Given the description of an element on the screen output the (x, y) to click on. 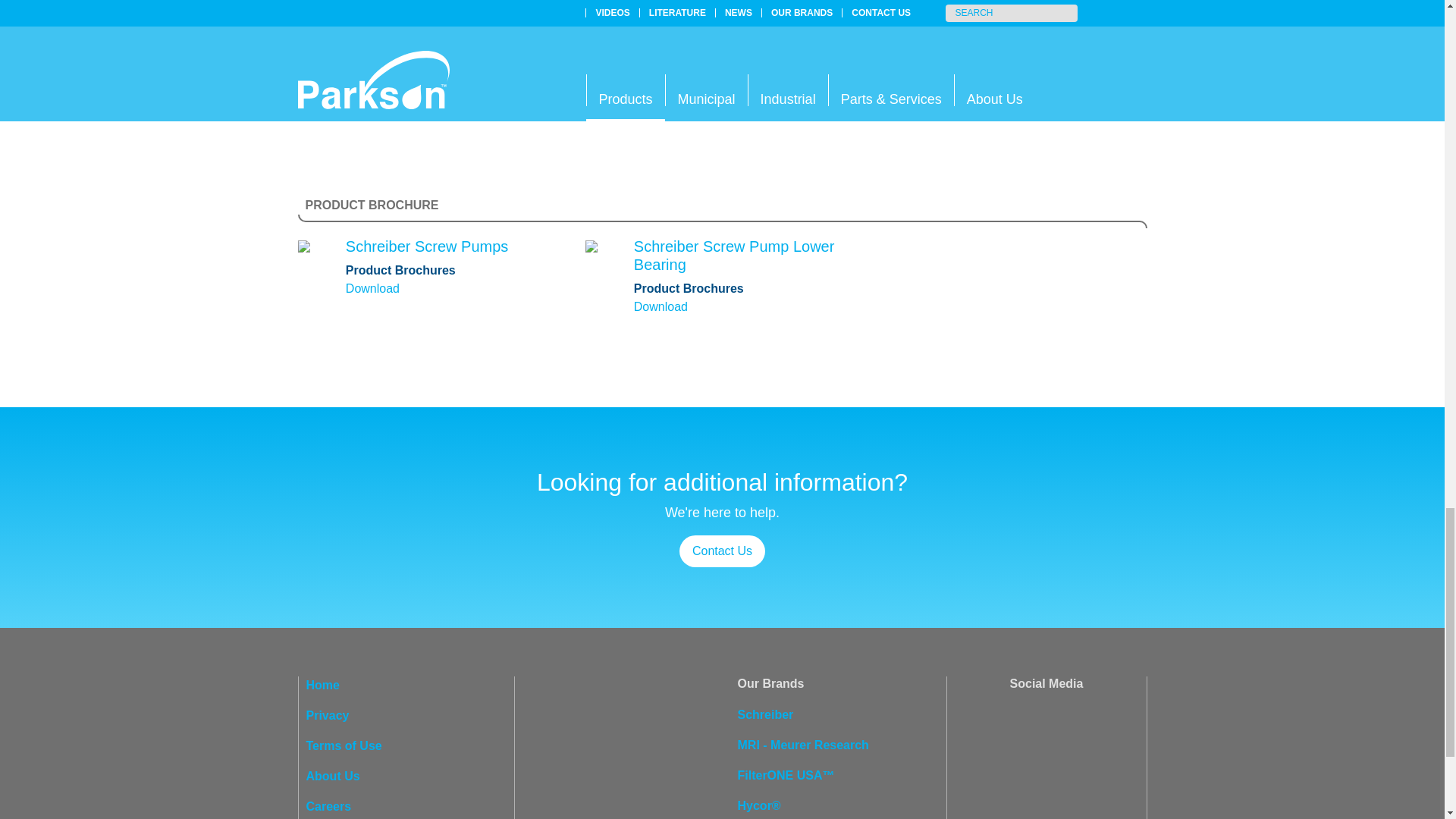
Download Schreiber Screw Pump Lower Bearing (660, 306)
Download Schreiber Screw Pumps (372, 287)
Download Schreiber Screw Pump Lower Bearing (733, 255)
Download Schreiber Screw Pumps (427, 246)
